Given the description of an element on the screen output the (x, y) to click on. 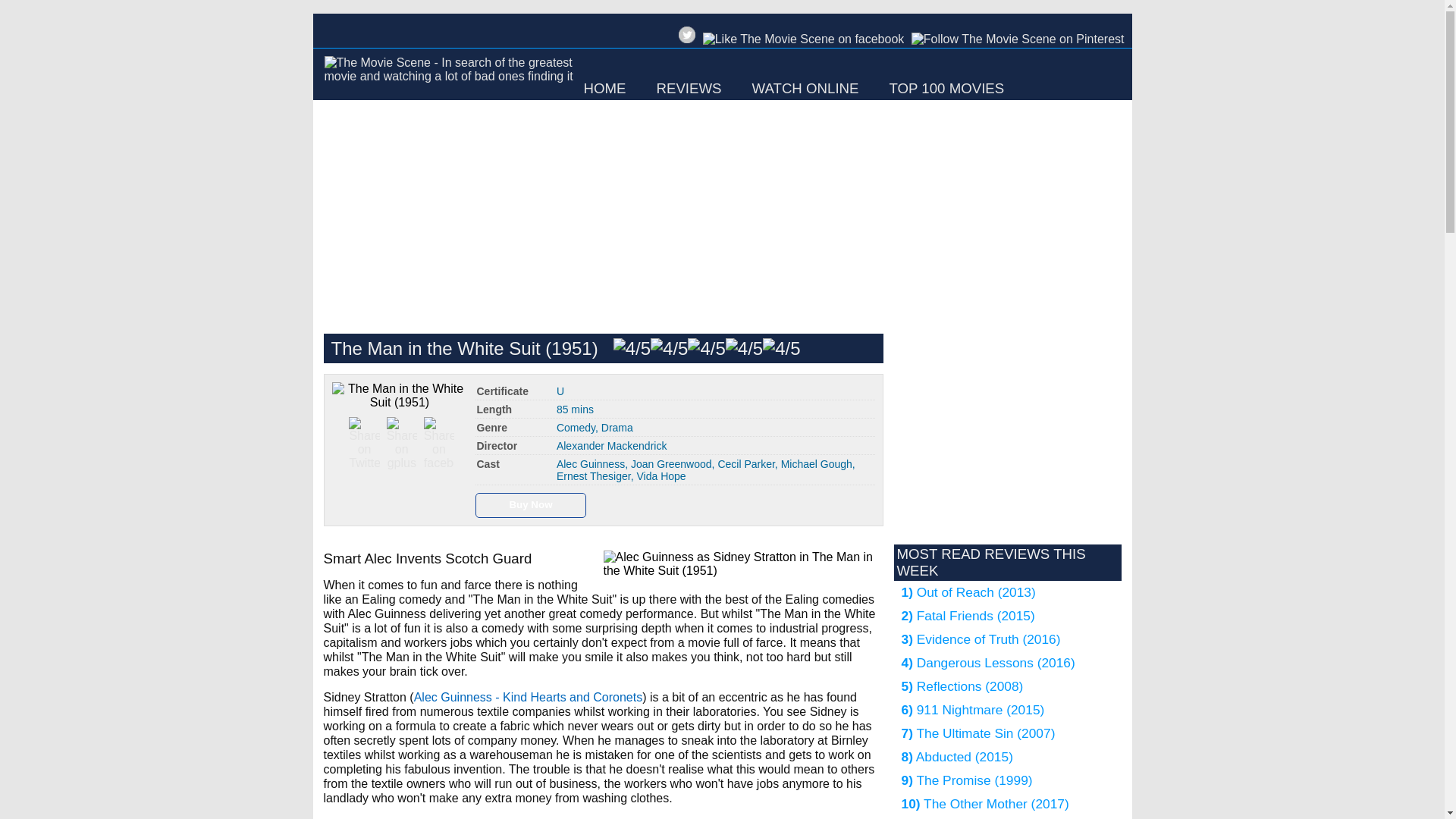
Comedy movies (575, 427)
paid link (531, 502)
Like The Movie Scene on facebook (803, 38)
Alec Guinness - Kind Hearts and Coronets (527, 697)
Like The Movie Scene on facebook (801, 42)
Follow The Movie Scene on Twitter (686, 34)
Buy Now (531, 502)
WATCH ONLINE (805, 88)
The Movie Scene - homepage (449, 79)
